Given the description of an element on the screen output the (x, y) to click on. 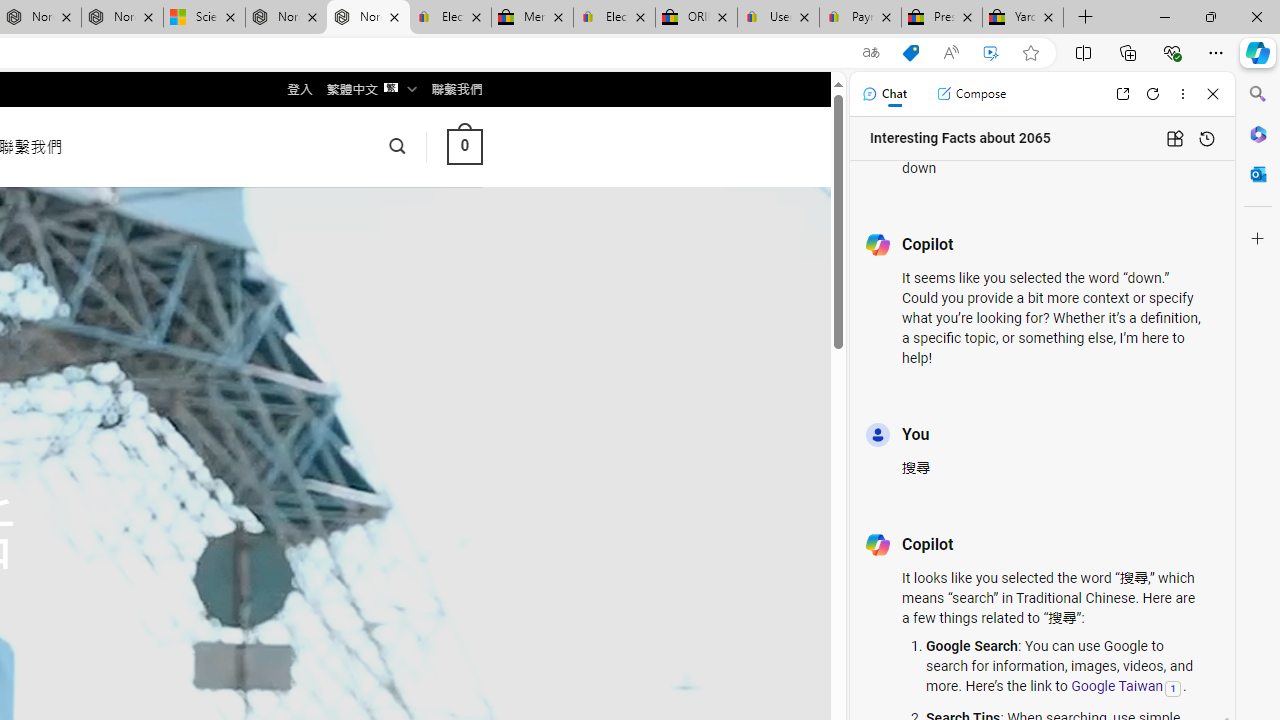
 0  (464, 146)
Compose (971, 93)
Enhance video (991, 53)
This site has coupons! Shopping in Microsoft Edge (910, 53)
Yard, Garden & Outdoor Living (1023, 17)
  0   (464, 146)
